Given the description of an element on the screen output the (x, y) to click on. 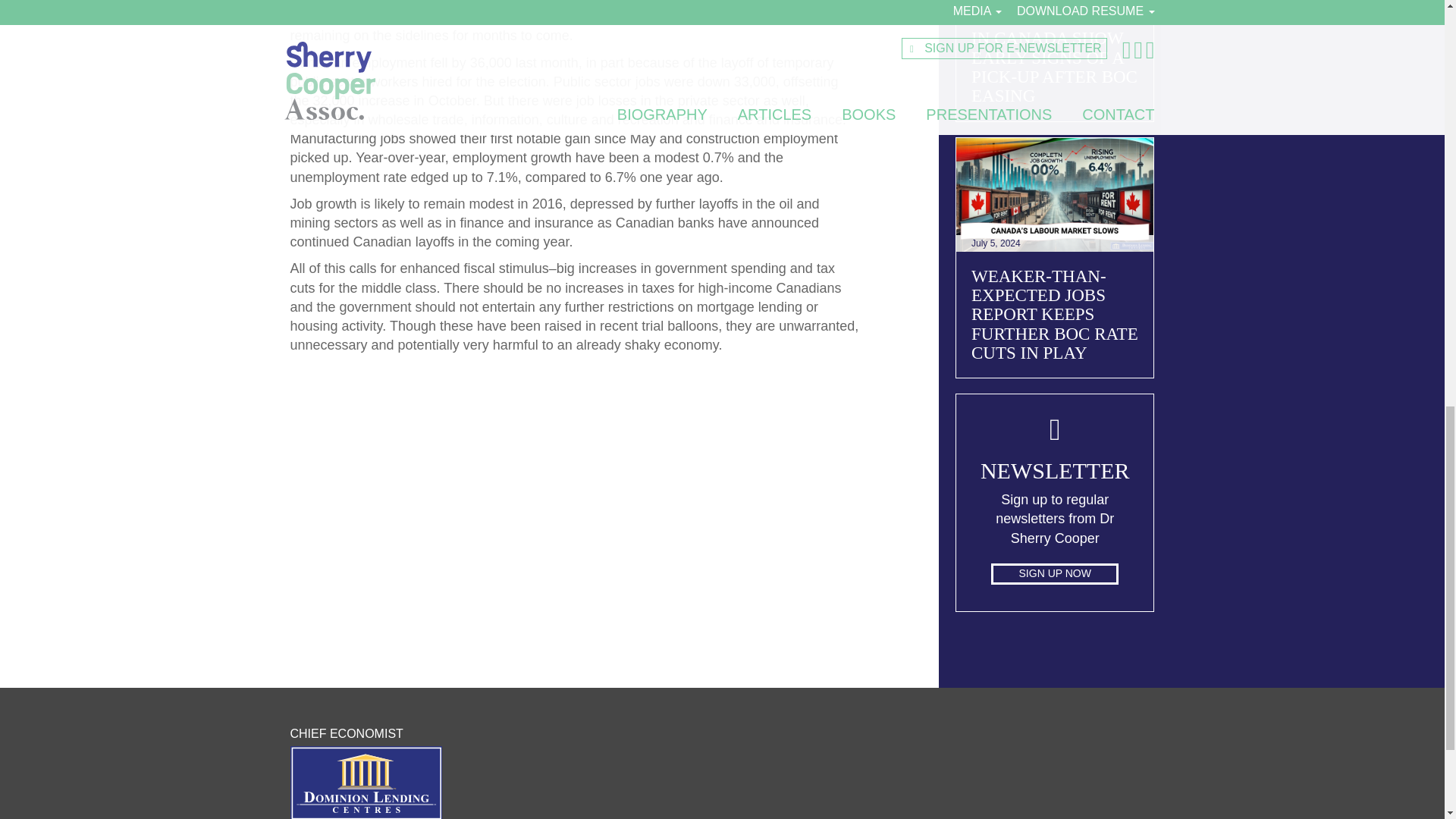
July 5, 2024 (1055, 194)
SIGN UP NOW (1054, 573)
